Given the description of an element on the screen output the (x, y) to click on. 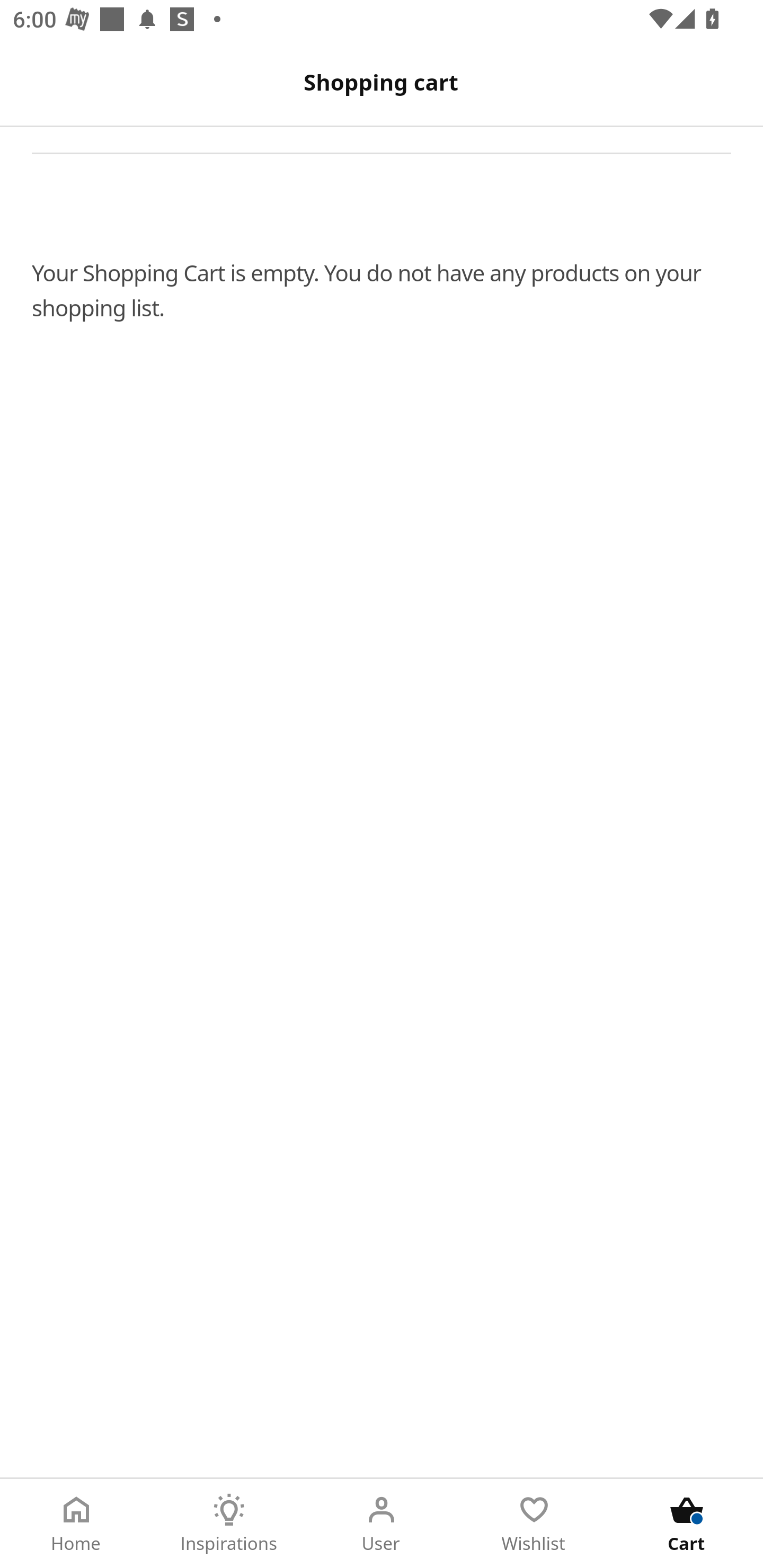
Home
Tab 1 of 5 (76, 1522)
Inspirations
Tab 2 of 5 (228, 1522)
User
Tab 3 of 5 (381, 1522)
Wishlist
Tab 4 of 5 (533, 1522)
Cart
Tab 5 of 5 (686, 1522)
